Given the description of an element on the screen output the (x, y) to click on. 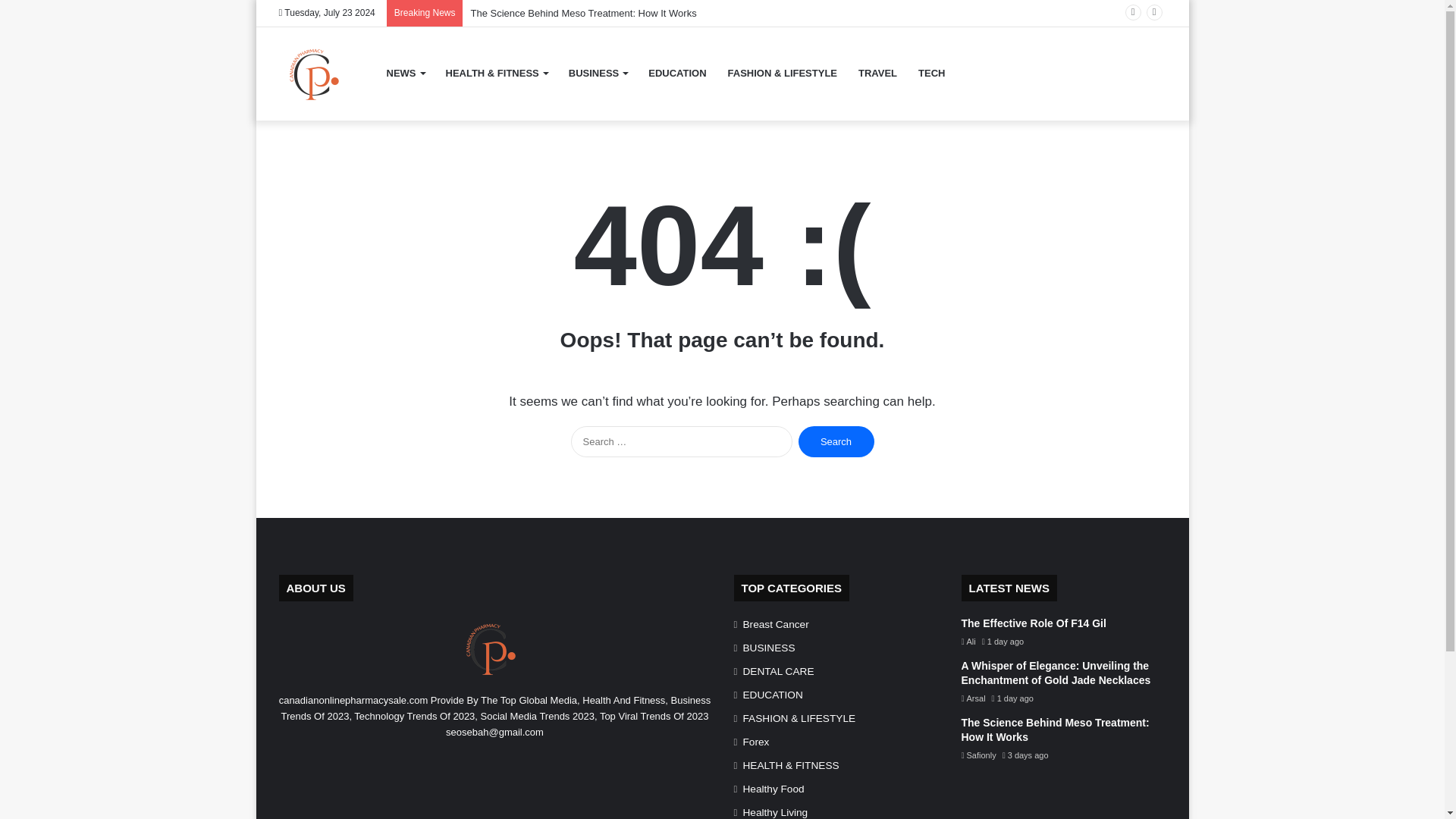
TRAVEL (877, 73)
The Science Behind Meso Treatment: How It Works (1055, 729)
Search (835, 441)
The Effective Role Of F14 Gil (1033, 623)
Forex (756, 741)
NEWS (405, 73)
canadian online pharmacy (317, 73)
DENTAL CARE (777, 671)
EDUCATION (772, 694)
Arsal (972, 697)
Healthy Living (775, 811)
Healthy Food (773, 788)
Breast Cancer (775, 624)
Search (835, 441)
